Given the description of an element on the screen output the (x, y) to click on. 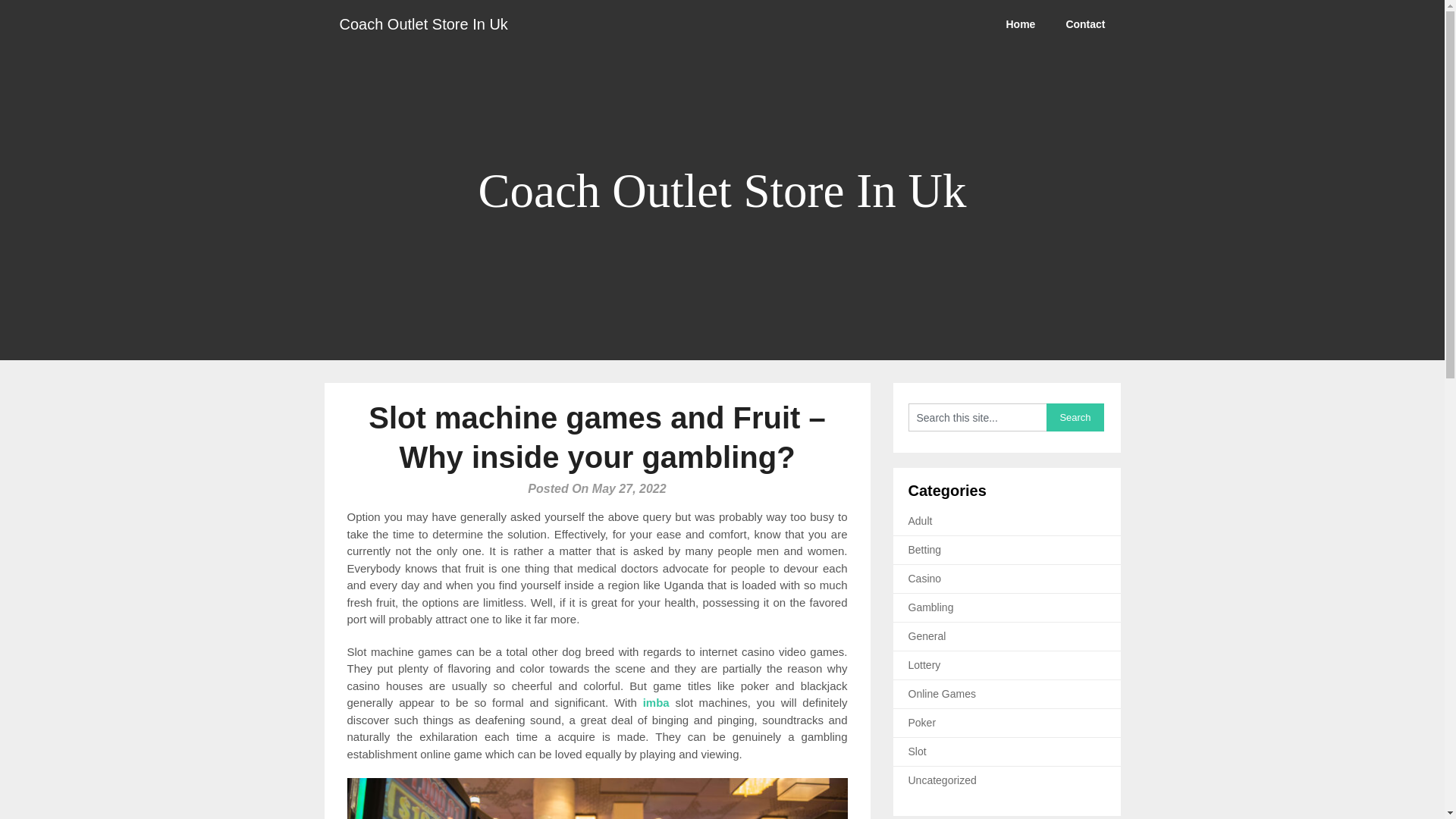
General (927, 635)
Poker (922, 722)
Slot (917, 751)
Search (1075, 417)
Search this site... (977, 417)
Contact (1084, 24)
Uncategorized (942, 779)
Lottery (924, 664)
Gambling (930, 607)
Coach Outlet Store In Uk (423, 24)
